Given the description of an element on the screen output the (x, y) to click on. 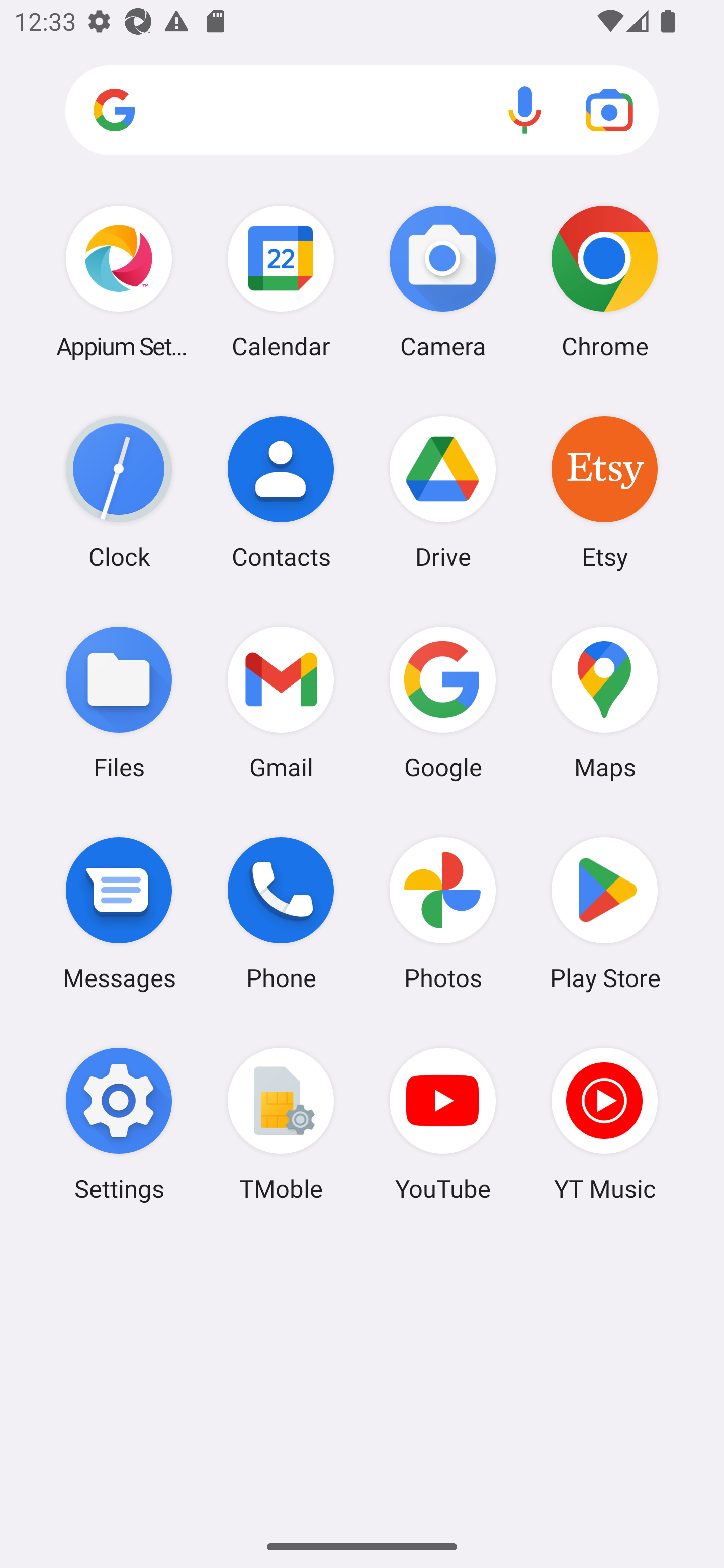
Search apps, web and more (361, 110)
Voice search (524, 109)
Google Lens (608, 109)
Appium Settings (118, 281)
Calendar (280, 281)
Camera (443, 281)
Chrome (604, 281)
Clock (118, 492)
Contacts (280, 492)
Drive (443, 492)
Etsy (604, 492)
Files (118, 702)
Gmail (280, 702)
Google (443, 702)
Maps (604, 702)
Messages (118, 913)
Phone (280, 913)
Photos (443, 913)
Play Store (604, 913)
Settings (118, 1124)
TMoble (280, 1124)
YouTube (443, 1124)
YT Music (604, 1124)
